Given the description of an element on the screen output the (x, y) to click on. 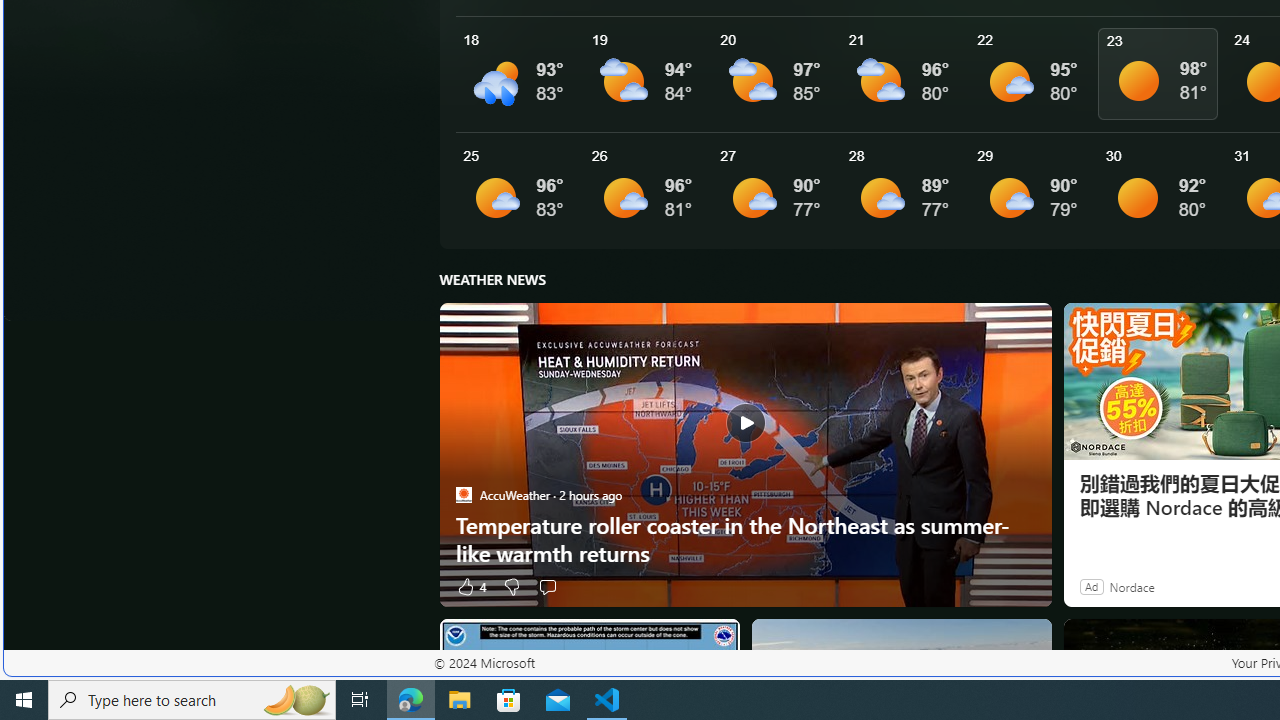
AccuWeather (463, 494)
